Given the description of an element on the screen output the (x, y) to click on. 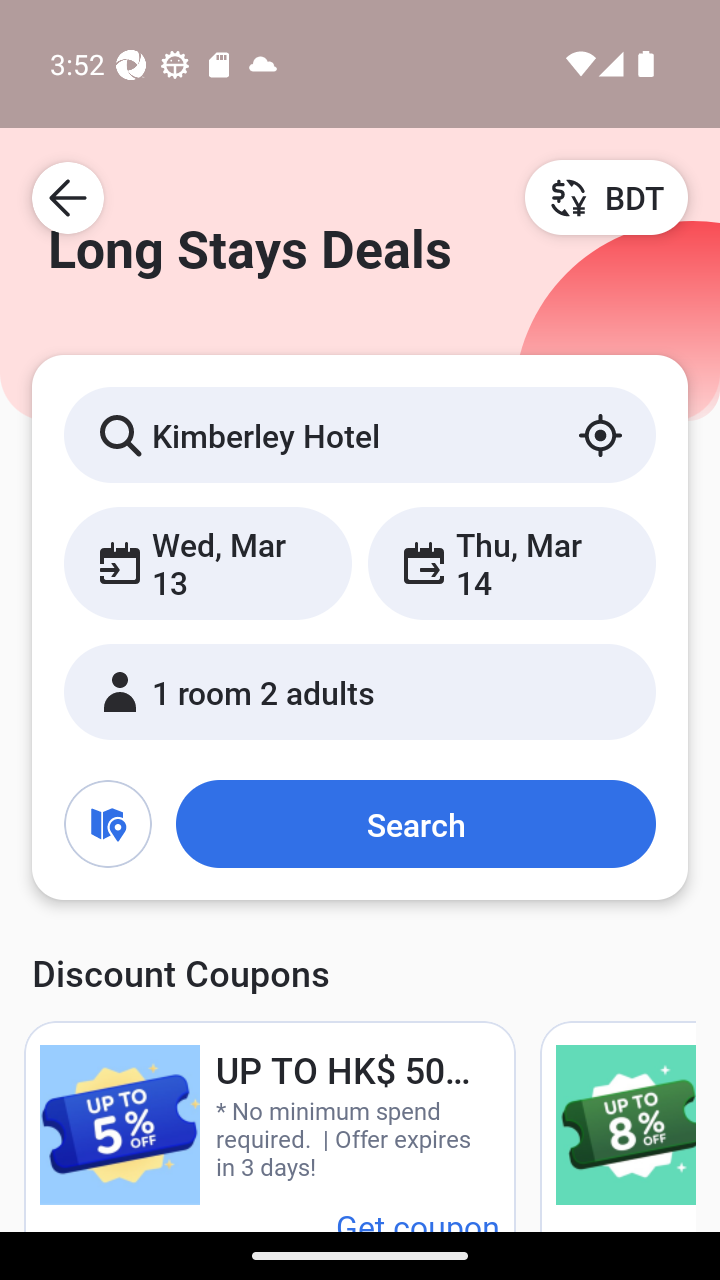
BDT (606, 197)
Kimberley Hotel (359, 434)
Wed, Mar 13 (208, 562)
Thu, Mar 14 (511, 562)
1 room 2 adults (359, 691)
Search (415, 823)
